Given the description of an element on the screen output the (x, y) to click on. 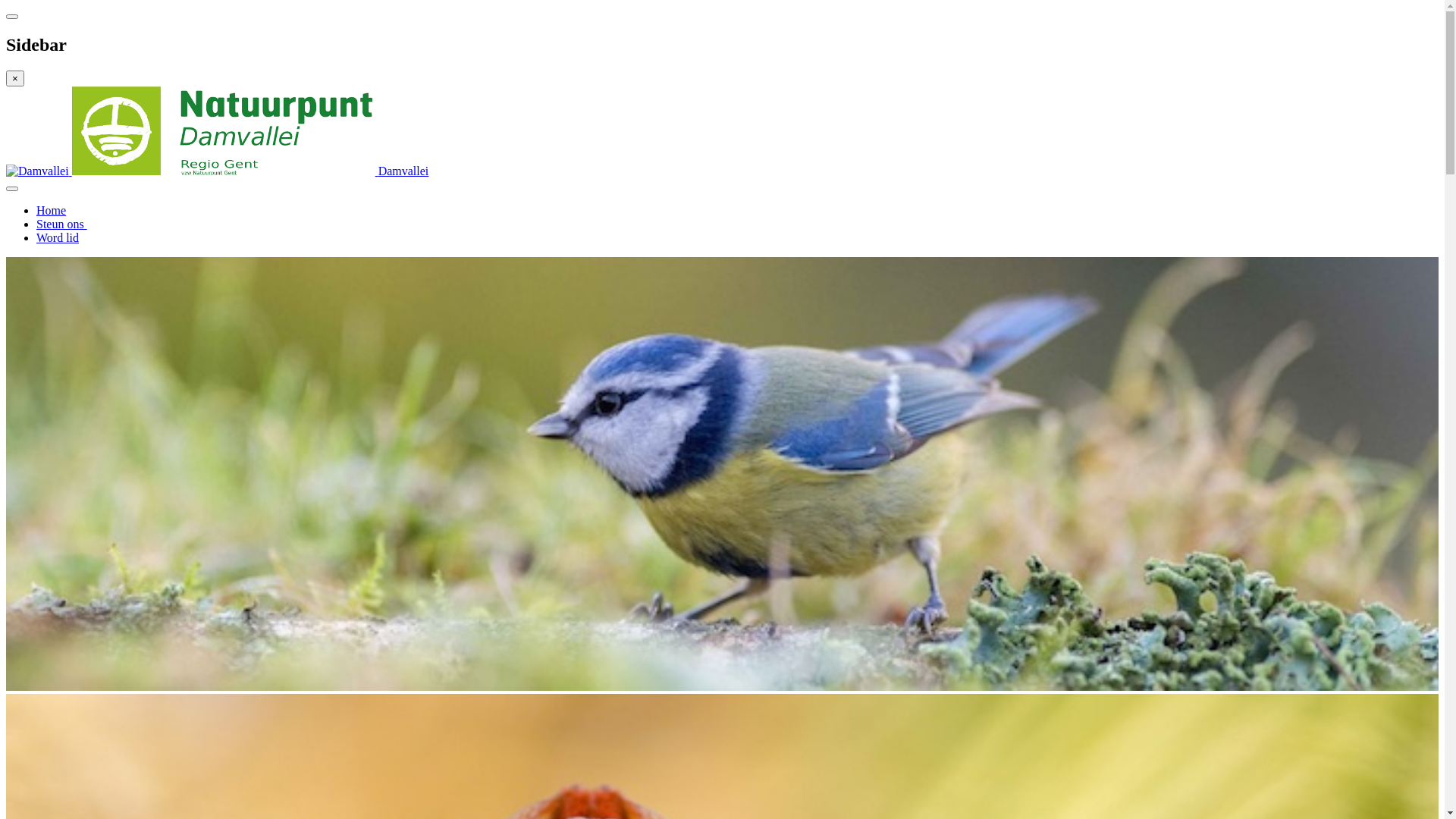
/media/mod_jmslideshow/100x65_meesje.jpg Element type: hover (722, 473)
Damvallei Element type: text (217, 170)
Home Element type: text (50, 209)
Steun ons Element type: text (61, 223)
Word lid Element type: text (57, 237)
